Given the description of an element on the screen output the (x, y) to click on. 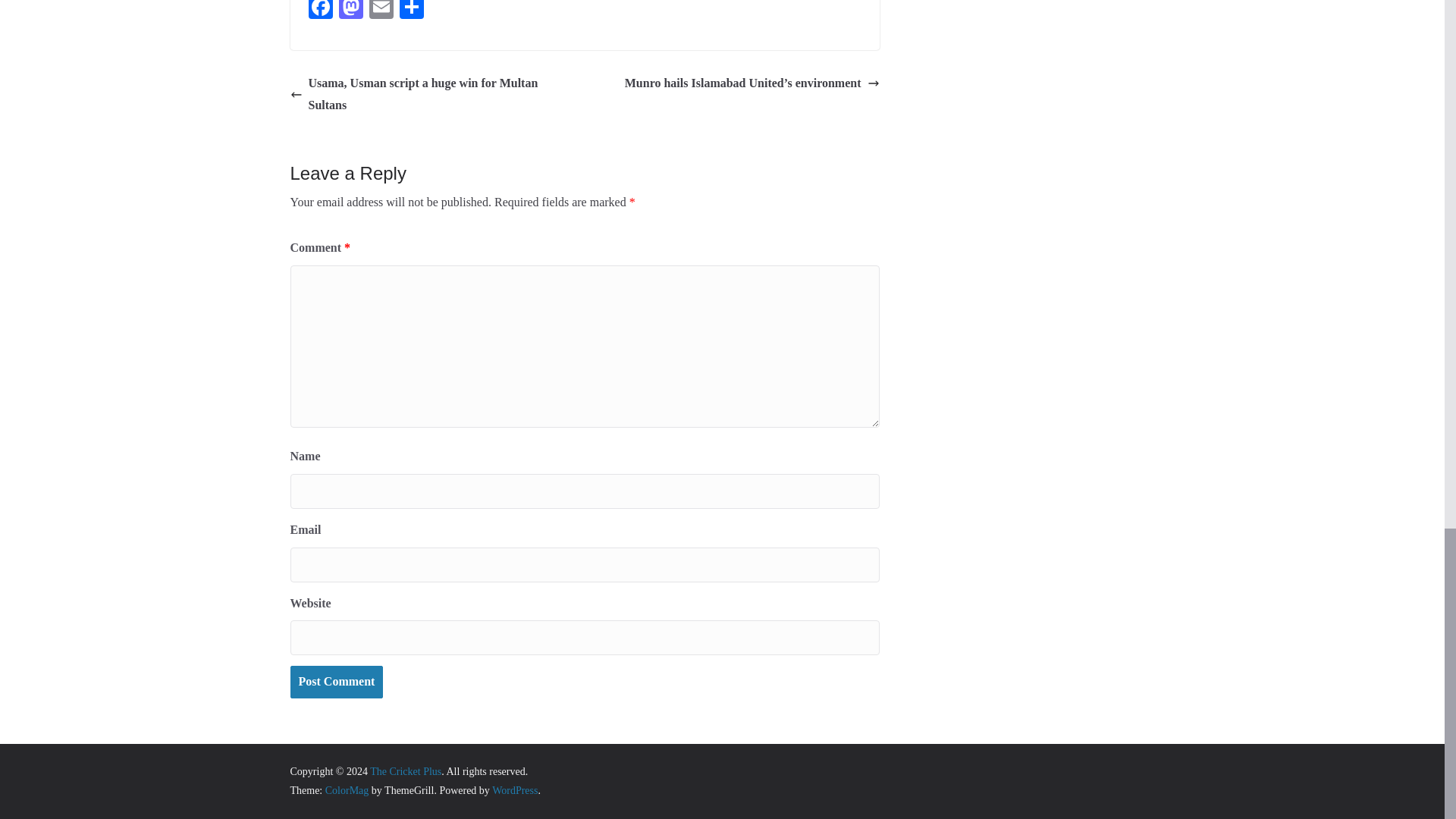
WordPress (514, 790)
Mastodon (349, 11)
Mastodon (349, 11)
Post Comment (335, 681)
WordPress (514, 790)
Email (380, 11)
Post Comment (335, 681)
ColorMag (346, 790)
The Cricket Plus (405, 771)
Usama, Usman script a huge win for Multan Sultans (432, 94)
ColorMag (346, 790)
The Cricket Plus (405, 771)
Email (380, 11)
Facebook (319, 11)
Facebook (319, 11)
